Given the description of an element on the screen output the (x, y) to click on. 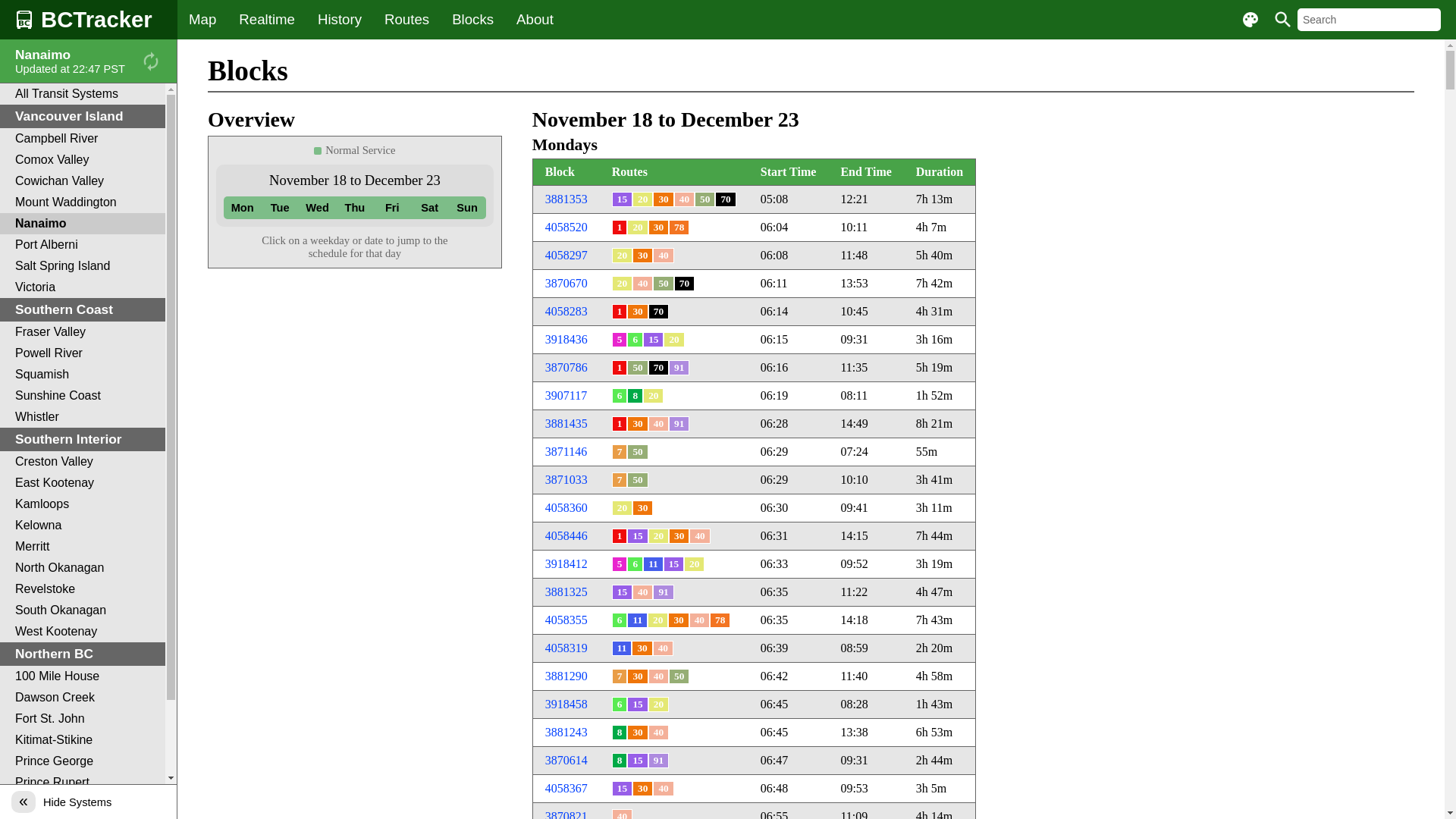
20 Element type: text (658, 704)
7 Element type: text (619, 451)
About Element type: text (534, 19)
6 Element type: text (619, 395)
40 Element type: text (662, 255)
Creston Valley Element type: text (82, 461)
91 Element type: text (658, 760)
Thu Element type: text (354, 207)
20 Element type: text (621, 283)
Fri Element type: text (392, 207)
8 Element type: text (635, 395)
4058283 Element type: text (566, 310)
4058520 Element type: text (566, 226)
3870670 Element type: text (566, 282)
4058355 Element type: text (566, 619)
Kelowna Element type: text (82, 525)
Whistler Element type: text (82, 416)
3918412 Element type: text (566, 563)
20 Element type: text (673, 339)
15 Element type: text (673, 563)
78 Element type: text (678, 227)
15 Element type: text (637, 704)
15 Element type: text (621, 788)
1 Element type: text (619, 367)
Blocks Element type: text (472, 19)
40 Element type: text (684, 199)
Squamish Element type: text (82, 374)
Sunshine Coast Element type: text (82, 395)
40 Element type: text (699, 619)
20 Element type: text (642, 199)
Wed Element type: text (316, 207)
30 Element type: text (642, 507)
3881290 Element type: text (566, 675)
3870786 Element type: text (566, 366)
Prince George Element type: text (82, 760)
4058319 Element type: text (566, 647)
4058446 Element type: text (566, 535)
Sun Element type: text (466, 207)
1 Element type: text (619, 423)
Map Element type: text (202, 19)
Fort St. John Element type: text (82, 718)
40 Element type: text (642, 591)
1 Element type: text (619, 227)
50 Element type: text (678, 676)
40 Element type: text (642, 283)
Powell River Element type: text (82, 353)
70 Element type: text (684, 283)
Campbell River Element type: text (82, 138)
50 Element type: text (637, 451)
Routes Element type: text (406, 19)
15 Element type: text (637, 535)
4058367 Element type: text (566, 787)
Tue Element type: text (279, 207)
15 Element type: text (653, 339)
5 Element type: text (619, 563)
Fraser Valley Element type: text (82, 331)
1 Element type: text (619, 311)
Salt Spring Island Element type: text (82, 265)
20 Element type: text (653, 395)
11 Element type: text (637, 619)
50 Element type: text (704, 199)
20 Element type: text (657, 619)
20 Element type: text (694, 563)
15 Element type: text (621, 199)
50 Element type: text (637, 479)
Revelstoke Element type: text (82, 588)
30 Element type: text (637, 423)
15 Element type: text (621, 591)
20 Element type: text (621, 255)
40 Element type: text (658, 676)
20 Element type: text (658, 535)
Prince Rupert Element type: text (82, 782)
6 Element type: text (619, 619)
6 Element type: text (635, 339)
History Element type: text (339, 19)
70 Element type: text (658, 311)
30 Element type: text (641, 647)
3881325 Element type: text (566, 591)
30 Element type: text (678, 535)
East Kootenay Element type: text (82, 482)
3907117 Element type: text (565, 395)
3918458 Element type: text (566, 703)
Port Alberni Element type: text (82, 244)
Realtime Element type: text (266, 19)
4058297 Element type: text (566, 254)
78 Element type: text (719, 619)
30 Element type: text (637, 676)
3871033 Element type: text (566, 479)
Sat Element type: text (429, 207)
3881435 Element type: text (566, 423)
4058360 Element type: text (566, 507)
30 Element type: text (662, 199)
Cowichan Valley Element type: text (82, 180)
50 Element type: text (662, 283)
30 Element type: text (658, 227)
Mon Element type: text (241, 207)
91 Element type: text (678, 367)
All Transit Systems Element type: text (82, 93)
Comox Valley Element type: text (82, 159)
30 Element type: text (637, 732)
11 Element type: text (653, 563)
30 Element type: text (637, 311)
Victoria Element type: text (82, 287)
North Okanagan Element type: text (82, 567)
20 Element type: text (621, 507)
3881353 Element type: text (566, 198)
South Okanagan Element type: text (82, 610)
Kamloops Element type: text (82, 503)
40 Element type: text (699, 535)
Mount Waddington Element type: text (82, 202)
15 Element type: text (637, 760)
40 Element type: text (662, 647)
7 Element type: text (619, 479)
100 Mile House Element type: text (82, 676)
West Kootenay Element type: text (82, 631)
3871146 Element type: text (565, 451)
70 Element type: text (658, 367)
40 Element type: text (662, 788)
8 Element type: text (619, 760)
3918436 Element type: text (566, 338)
20 Element type: text (637, 227)
11 Element type: text (621, 647)
Quesnel Element type: text (82, 803)
50 Element type: text (637, 367)
Dawson Creek Element type: text (82, 697)
3870614 Element type: text (566, 759)
1 Element type: text (619, 535)
30 Element type: text (678, 619)
Merritt Element type: text (82, 546)
BCTracker Element type: text (88, 19)
Kitimat-Stikine Element type: text (82, 739)
5 Element type: text (619, 339)
6 Element type: text (619, 704)
40 Element type: text (658, 423)
6 Element type: text (635, 563)
8 Element type: text (619, 732)
91 Element type: text (662, 591)
40 Element type: text (658, 732)
3881243 Element type: text (566, 731)
30 Element type: text (642, 255)
7 Element type: text (619, 676)
70 Element type: text (725, 199)
30 Element type: text (642, 788)
91 Element type: text (678, 423)
